Given the description of an element on the screen output the (x, y) to click on. 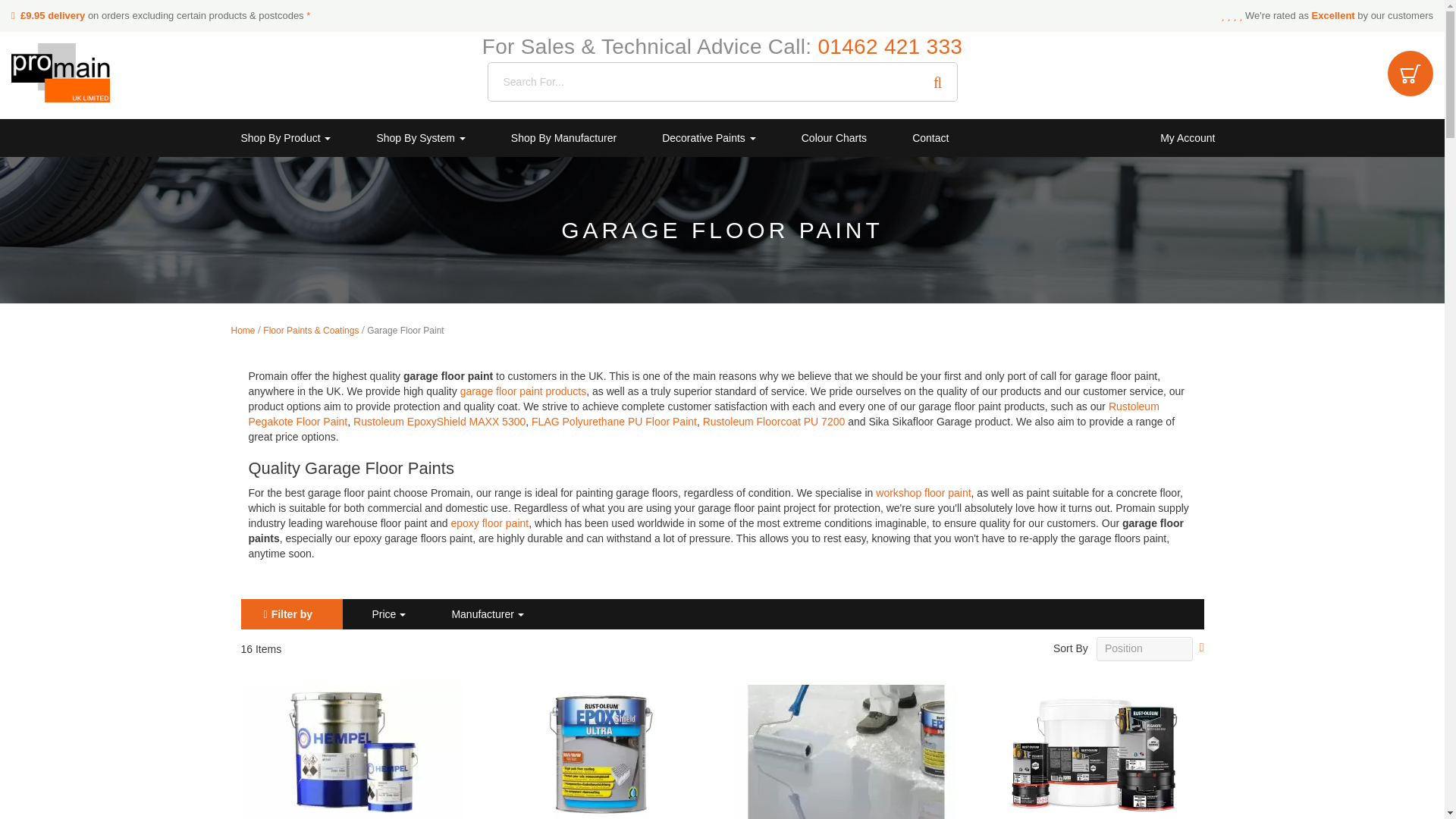
Shop By Product (285, 137)
01462 421 333 (889, 46)
Promain Customer Service Telephone Number (889, 46)
Shop By Product (285, 137)
My Cart (1409, 73)
Promain (60, 72)
